Given the description of an element on the screen output the (x, y) to click on. 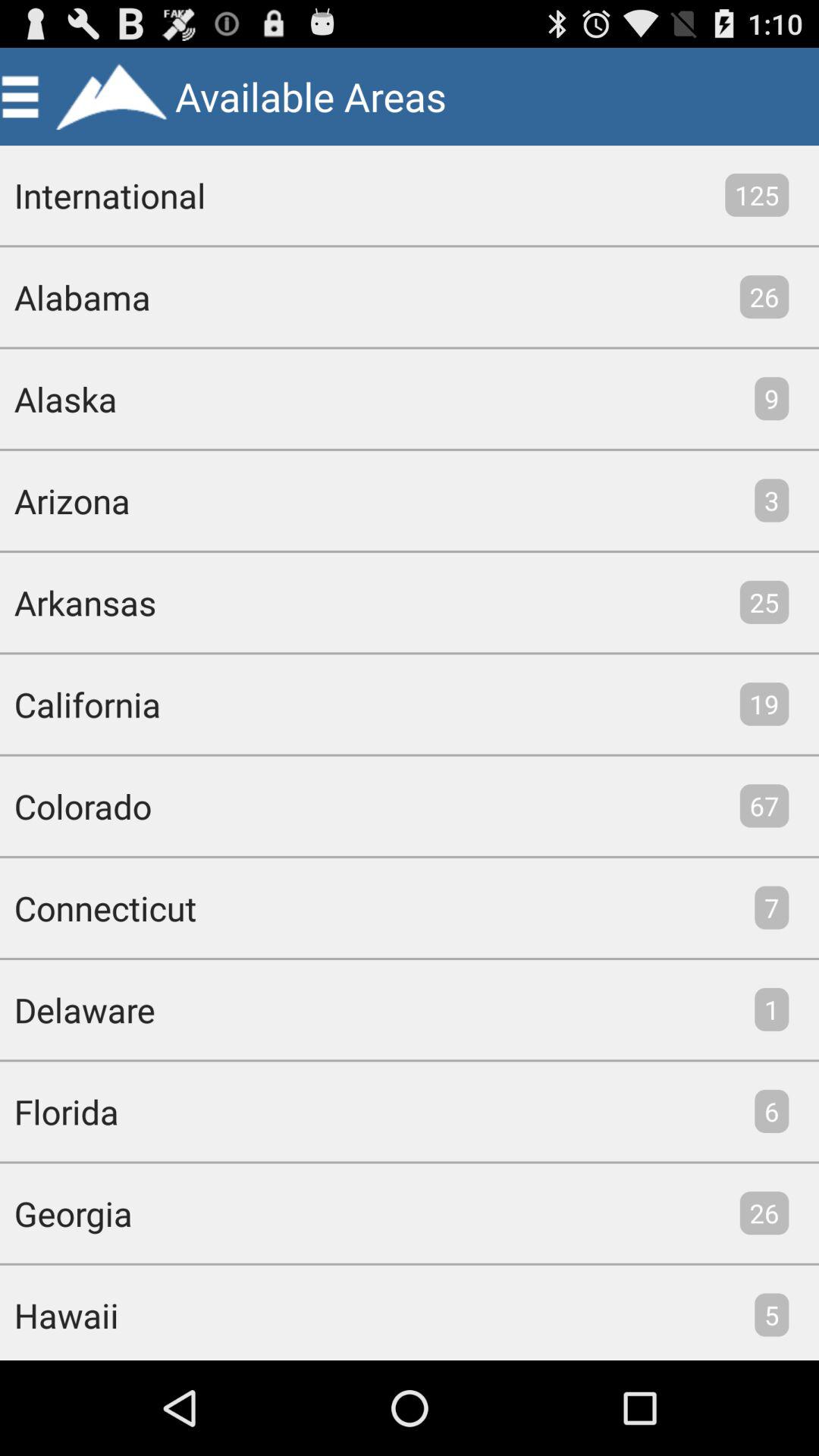
tap item next to the 3 (65, 500)
